Given the description of an element on the screen output the (x, y) to click on. 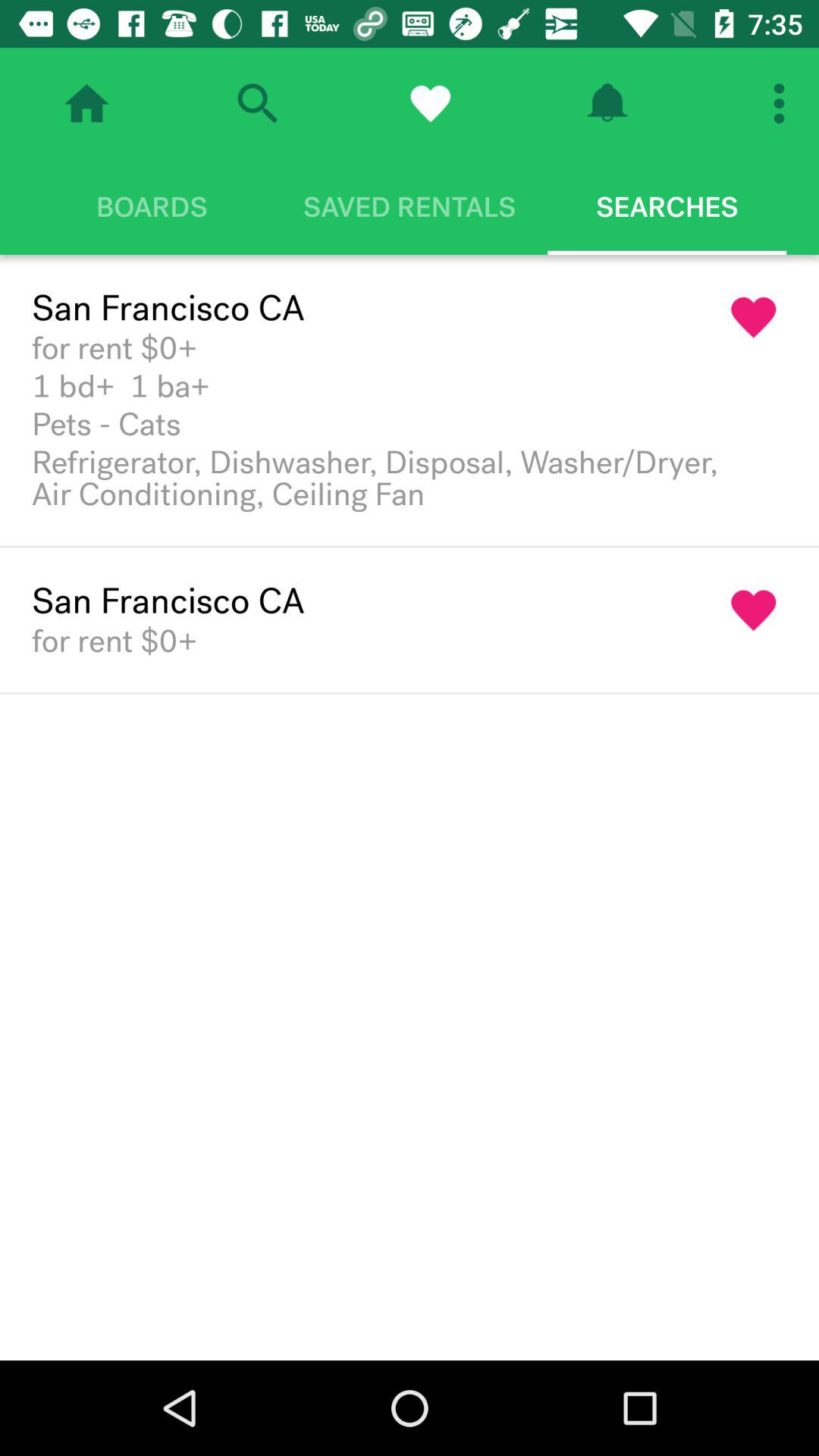
favorite a location (753, 610)
